Given the description of an element on the screen output the (x, y) to click on. 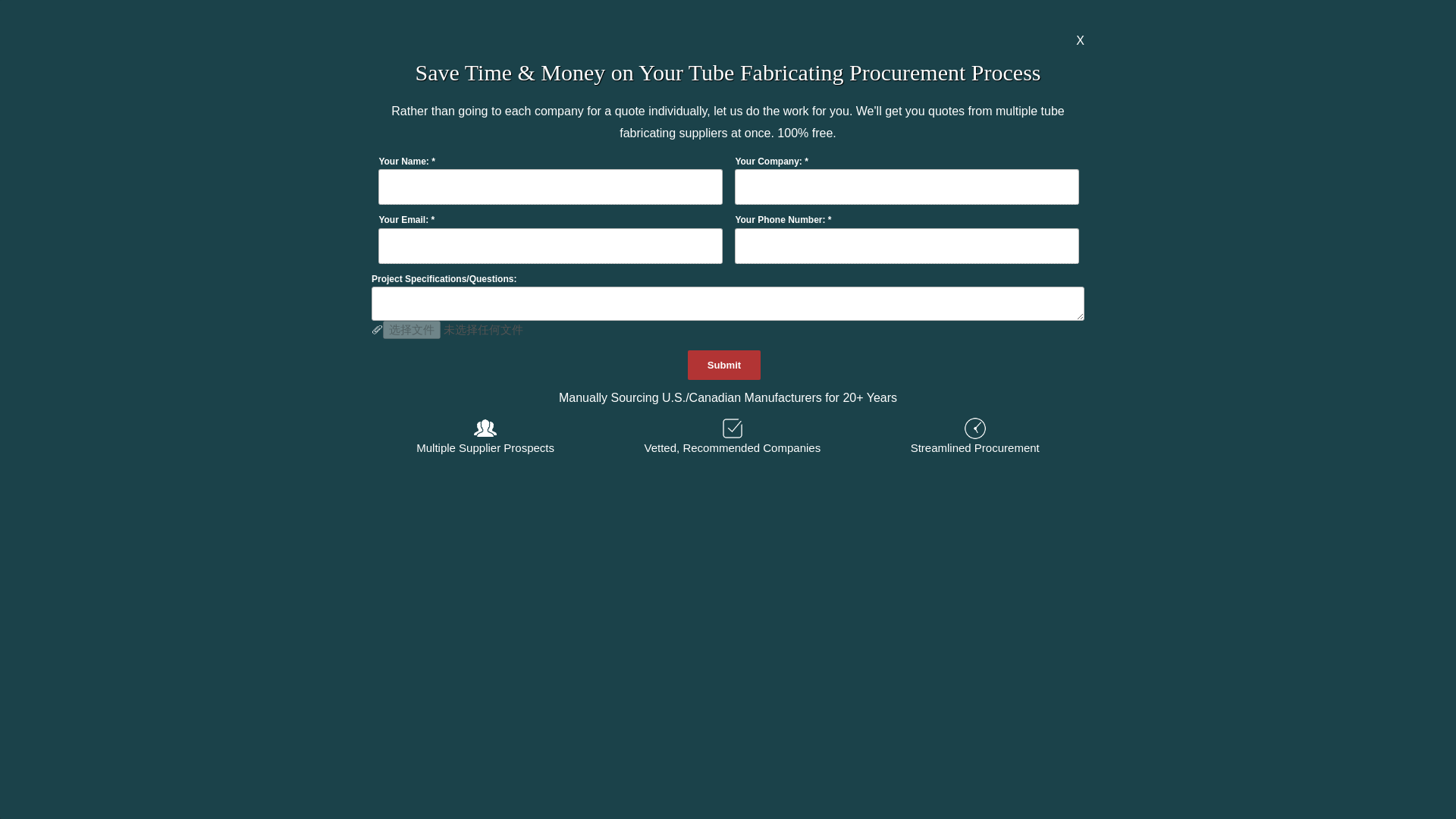
KMK Metal Fabricators, Inc. Logo (723, 228)
Request For Quote (948, 18)
SCR Precision Tube Bending, Inc. Logo (984, 218)
Steel Service Centers (655, 588)
Metal Channel (636, 480)
Sharpe Products Logo (201, 218)
Tube Fabricating Machinery (1165, 588)
Submit (724, 365)
Metal Fabrication (1136, 480)
Photo Gallery (1143, 18)
Tube Bending Technology Logo (462, 218)
Contact Us (1052, 18)
Roll Forming (139, 588)
TBC Metalworks Logo (251, 18)
